Given the description of an element on the screen output the (x, y) to click on. 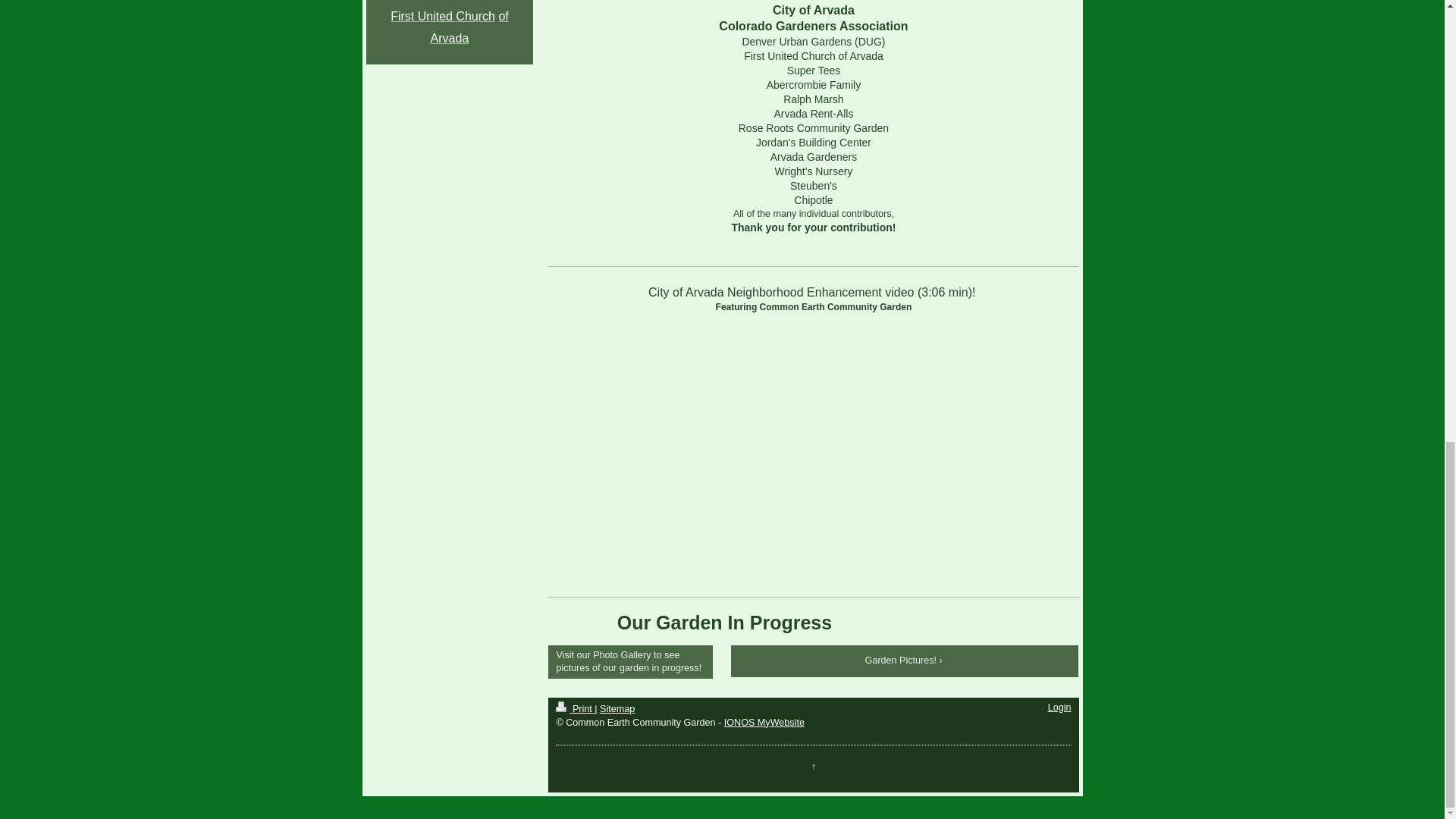
Print (575, 708)
First United Church (442, 15)
of Arvada (469, 27)
IONOS MyWebsite (764, 722)
Sitemap (616, 708)
Login (1059, 706)
Garden Pictures! (904, 660)
